Given the description of an element on the screen output the (x, y) to click on. 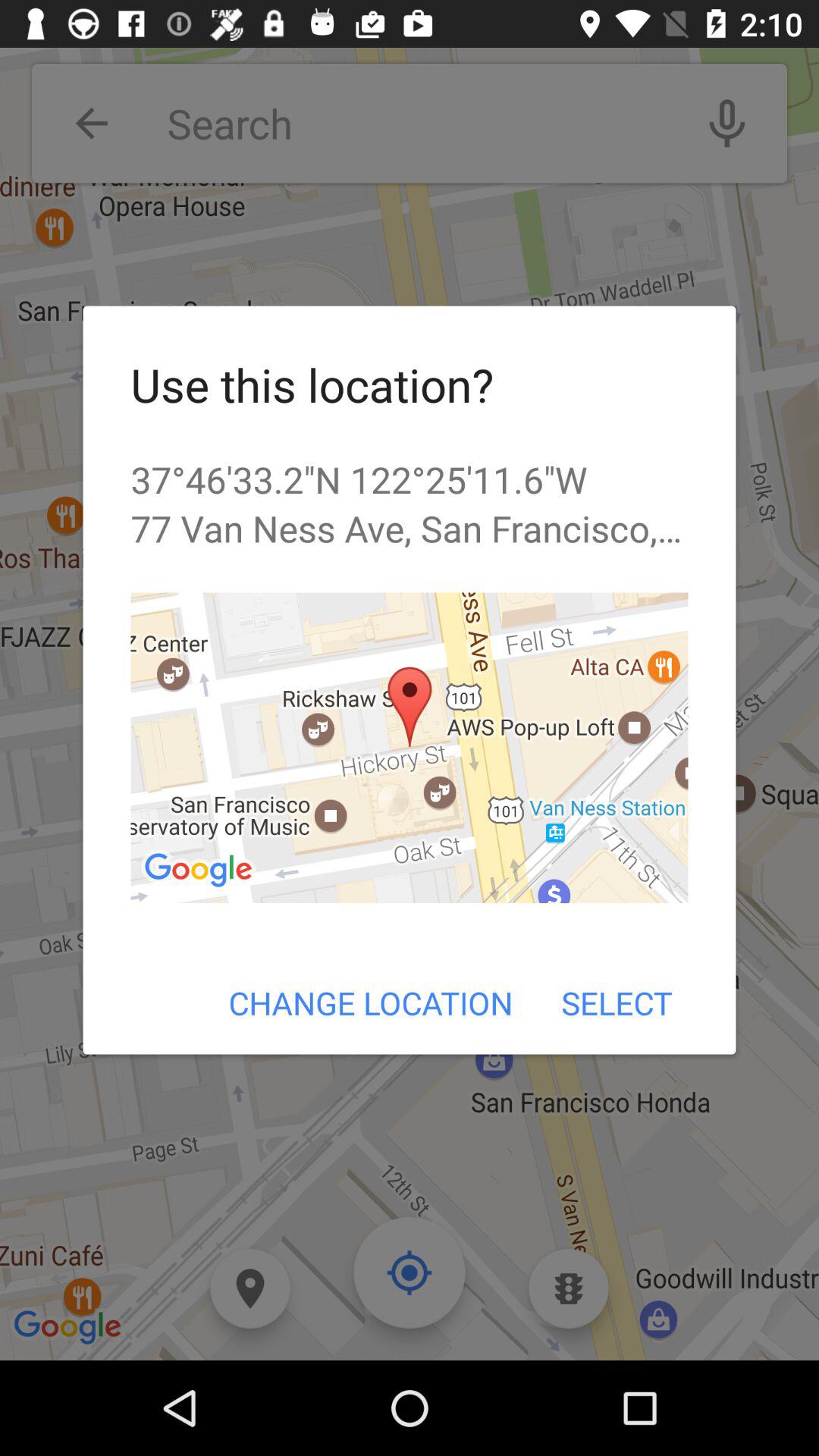
select item below the 77 van ness (409, 747)
